Given the description of an element on the screen output the (x, y) to click on. 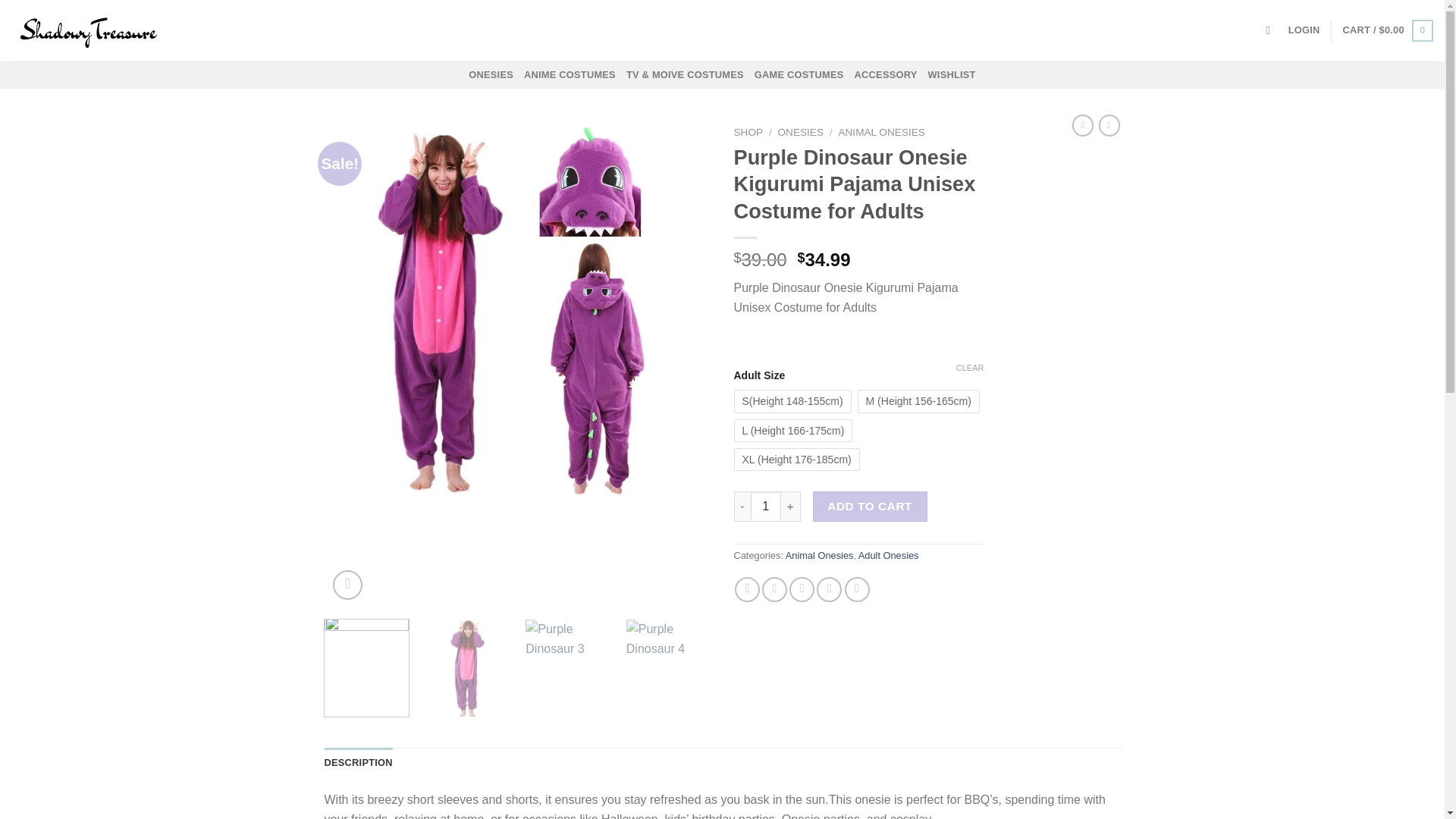
SHOP (747, 132)
ACCESSORY (885, 74)
1 (765, 506)
Cart (1387, 30)
WISHLIST (951, 74)
ANIMAL ONESIES (881, 132)
ONESIES (800, 132)
LOGIN (1304, 30)
Login (1304, 30)
ONESIES (490, 74)
Zoom (347, 584)
ADD TO CART (869, 506)
ANIME COSTUMES (569, 74)
GAME COSTUMES (799, 74)
